Given the description of an element on the screen output the (x, y) to click on. 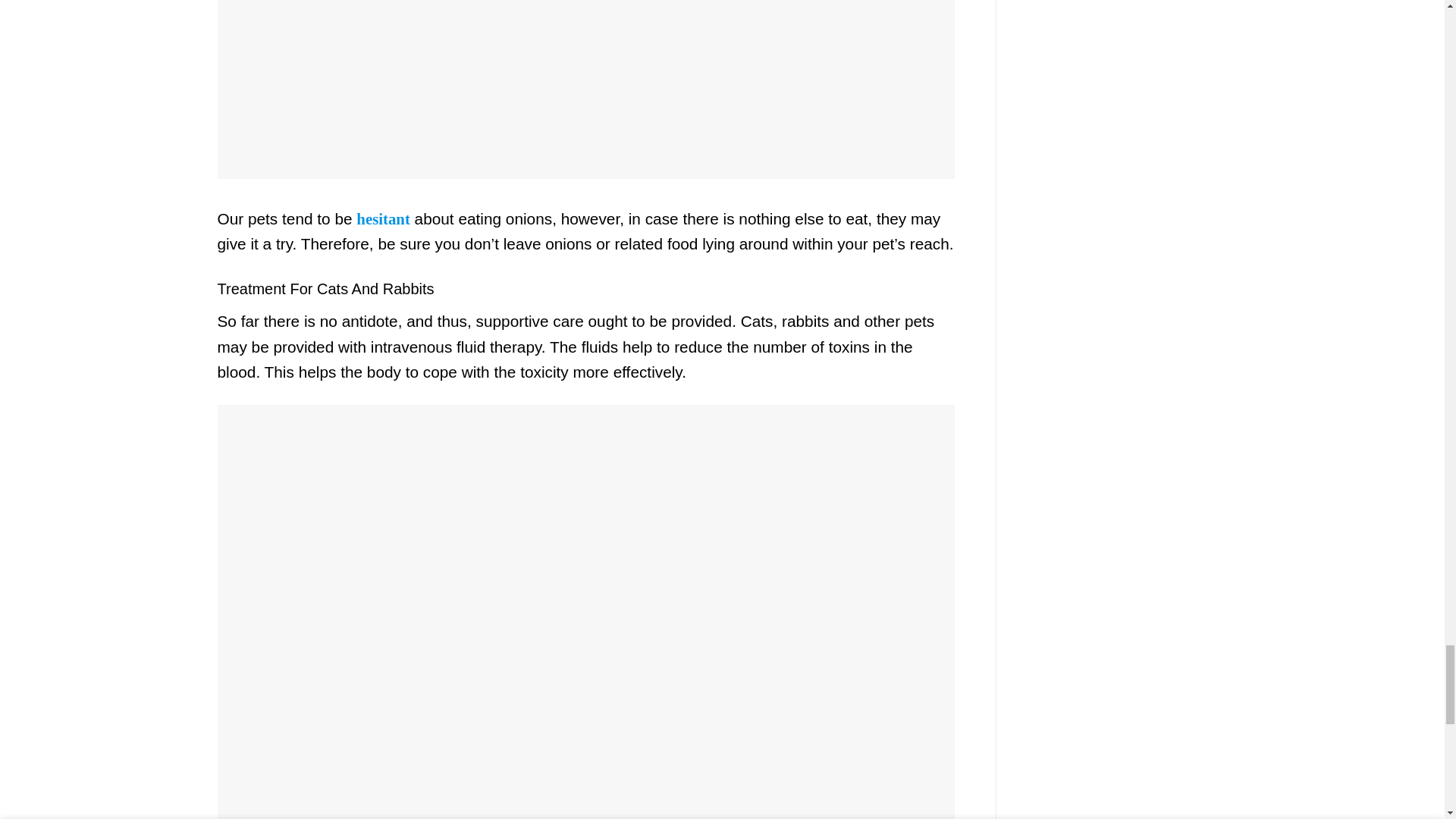
hesitant (382, 218)
